Given the description of an element on the screen output the (x, y) to click on. 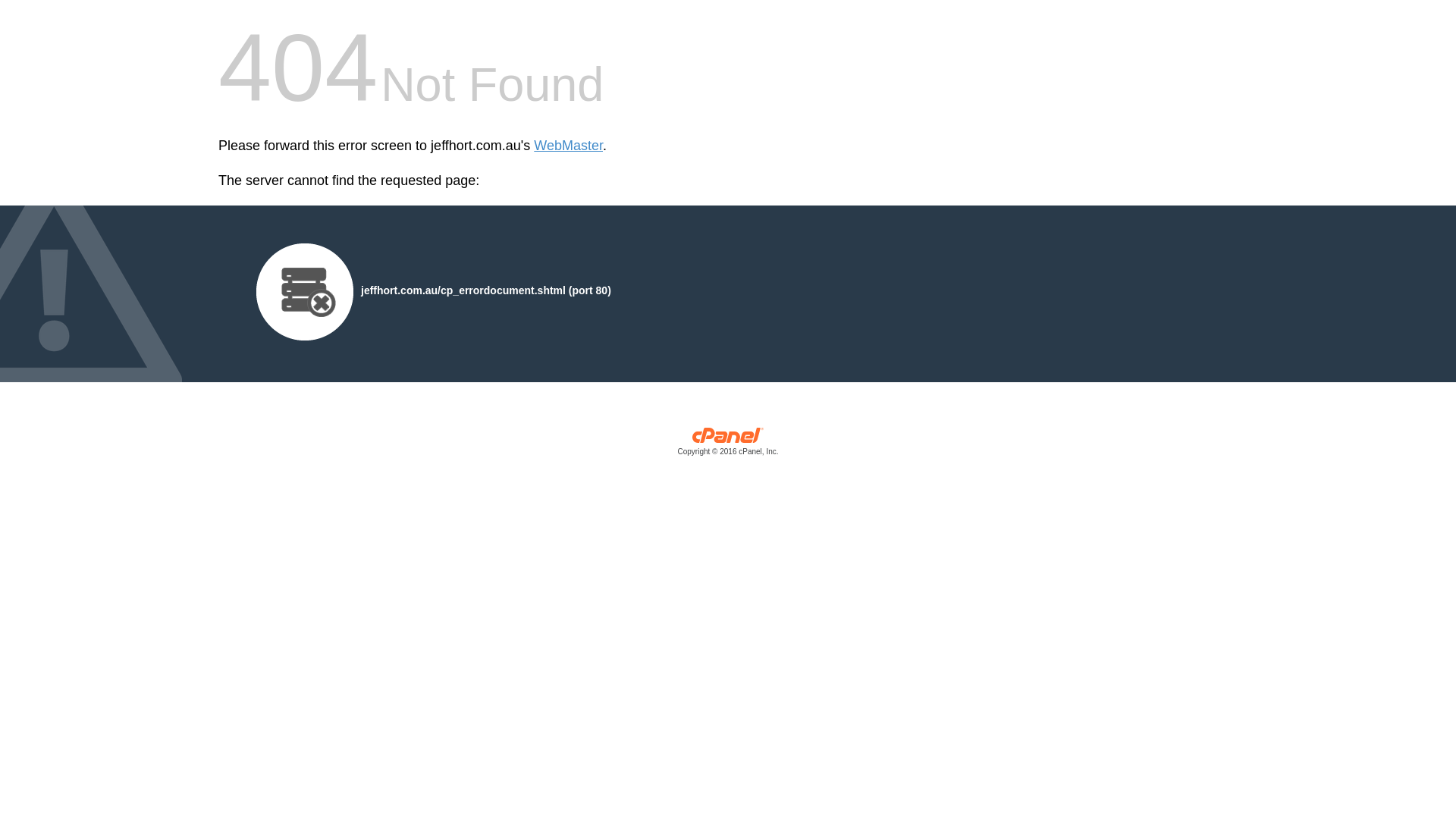
WebMaster Element type: text (567, 145)
